Given the description of an element on the screen output the (x, y) to click on. 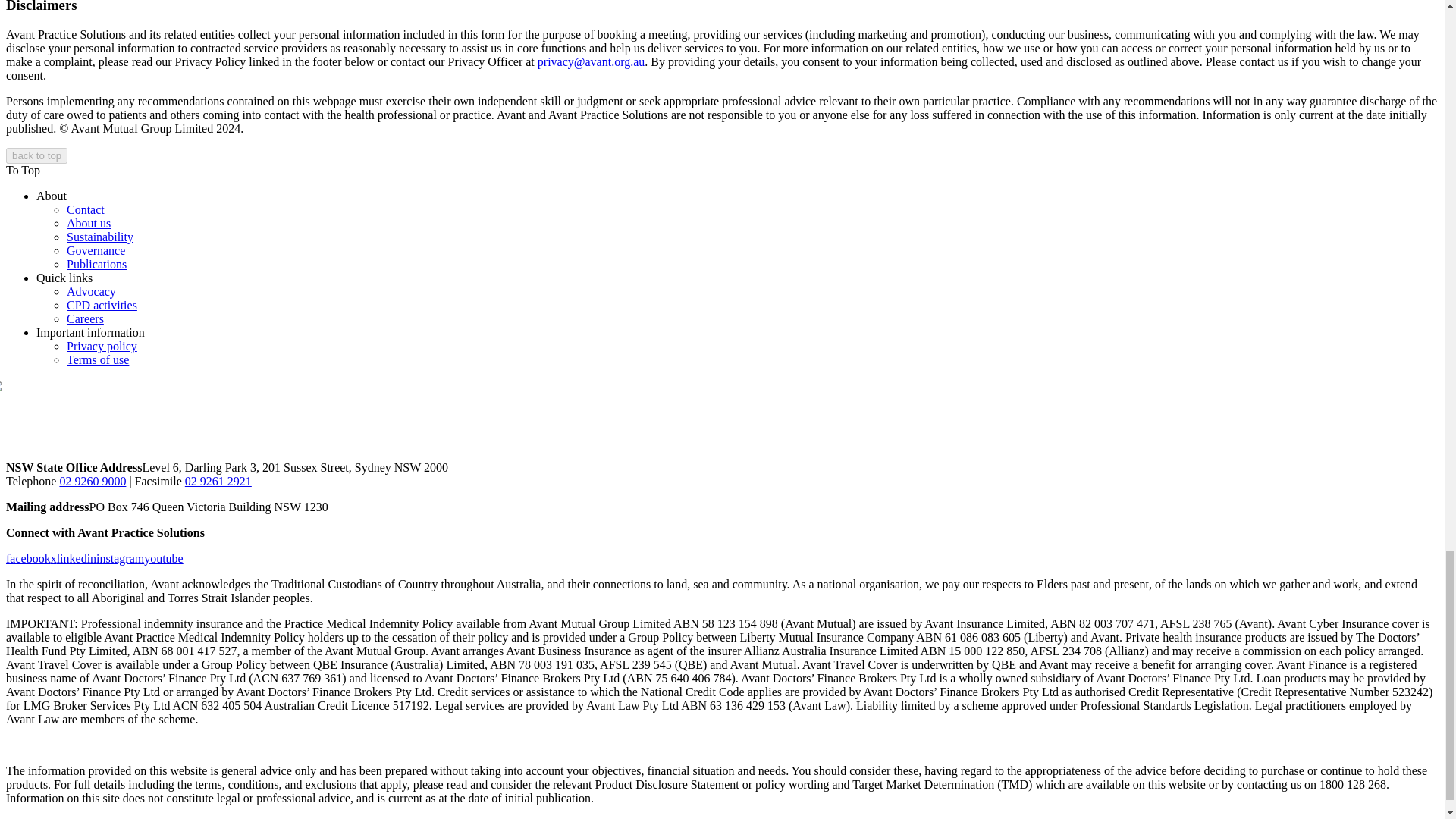
02 9260 9000 (92, 481)
02 9261 2921 (217, 481)
